Given the description of an element on the screen output the (x, y) to click on. 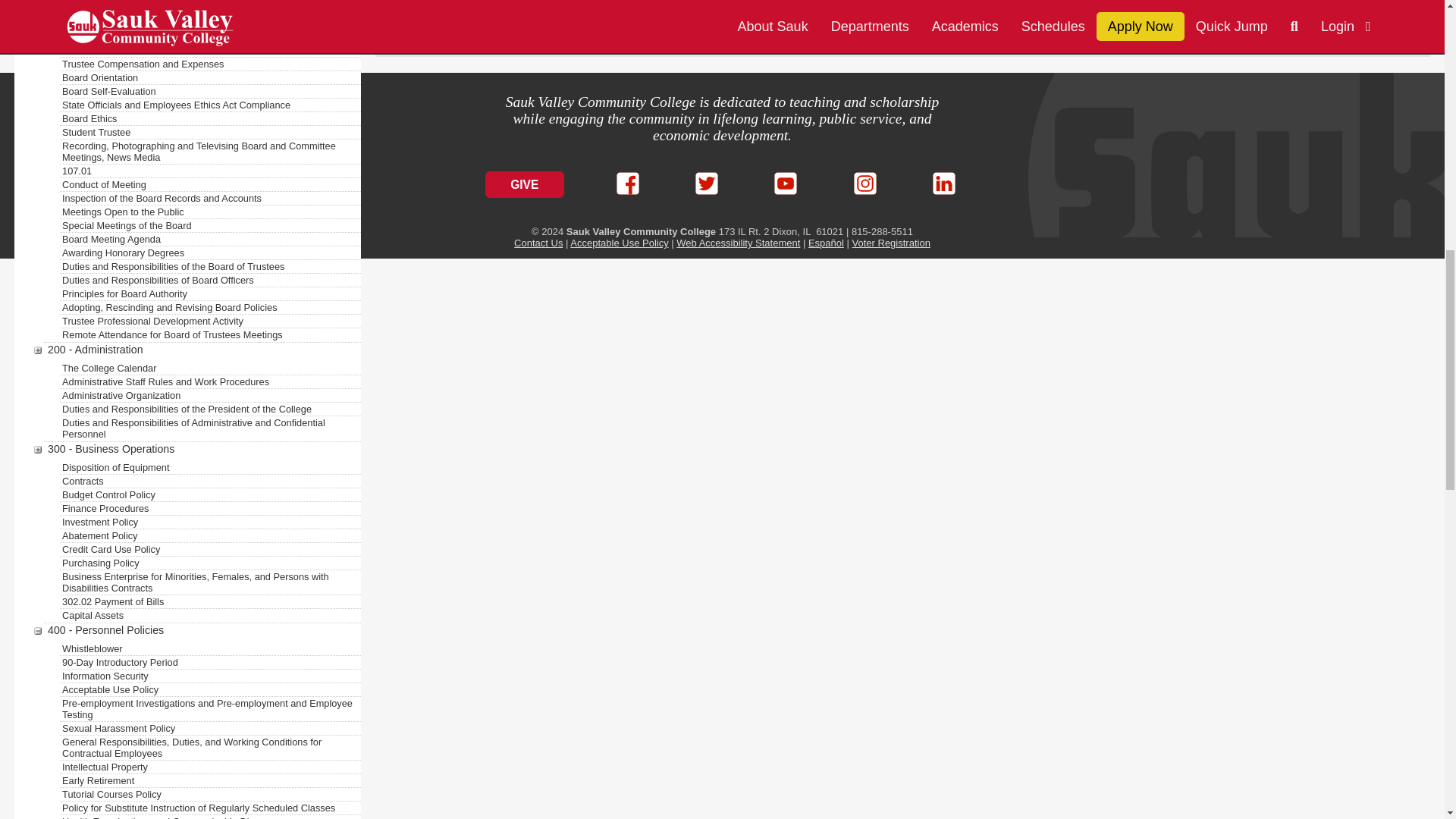
expand 100 - Board of Trustees section (37, 4)
